Given the description of an element on the screen output the (x, y) to click on. 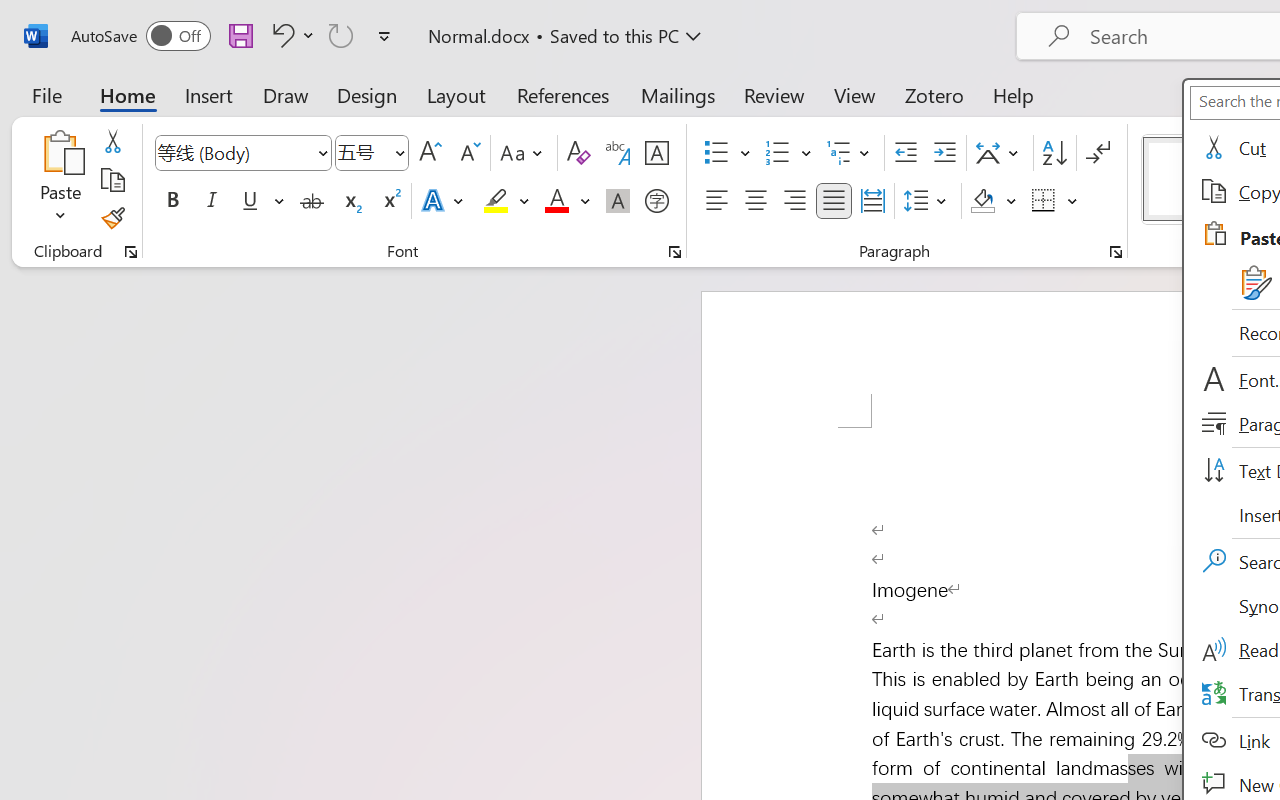
Strikethrough (312, 201)
Increase Indent (944, 153)
Distributed (872, 201)
Align Left (716, 201)
Text Highlight Color (506, 201)
Text Highlight Color Yellow (495, 201)
